Given the description of an element on the screen output the (x, y) to click on. 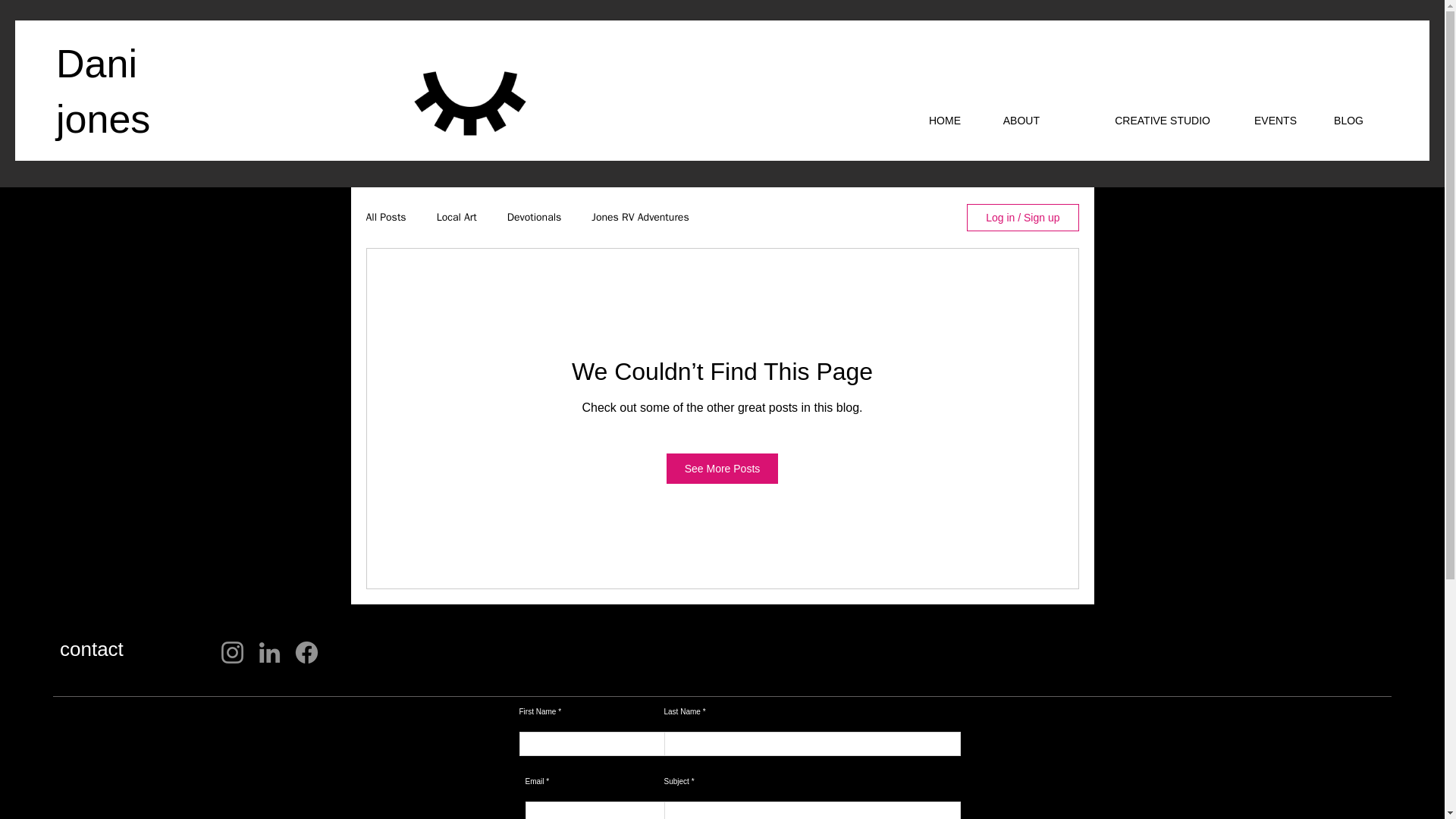
All Posts (385, 217)
Devotionals (534, 217)
Dani (96, 63)
Local Art (456, 217)
HOME (937, 120)
CREATIVE STUDIO (1136, 120)
Jones RV Adventures (639, 217)
ABOUT (1011, 120)
See More Posts (722, 468)
EVENTS (1264, 120)
